Given the description of an element on the screen output the (x, y) to click on. 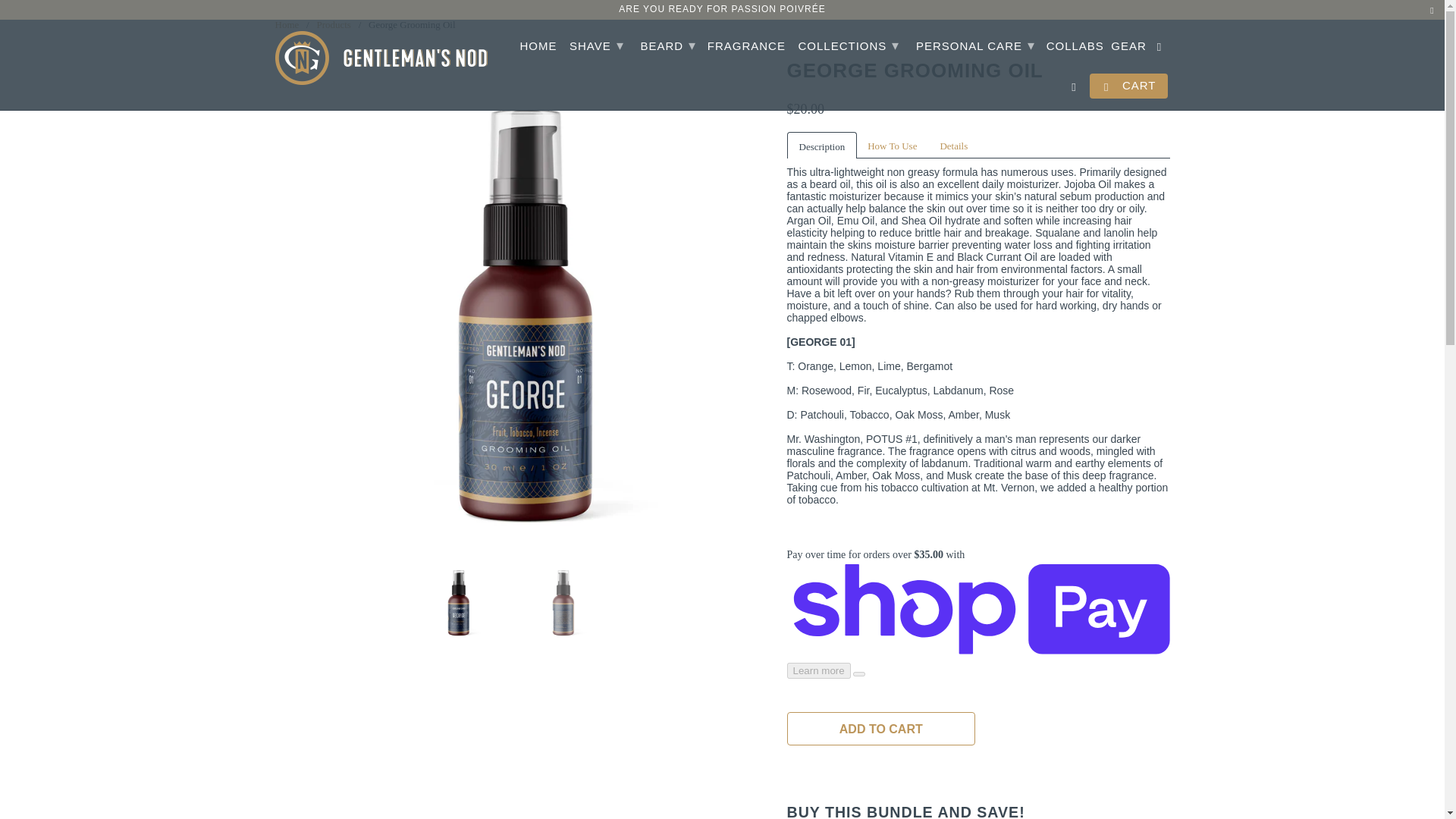
Gentleman's Nod (286, 24)
Products (332, 24)
